Given the description of an element on the screen output the (x, y) to click on. 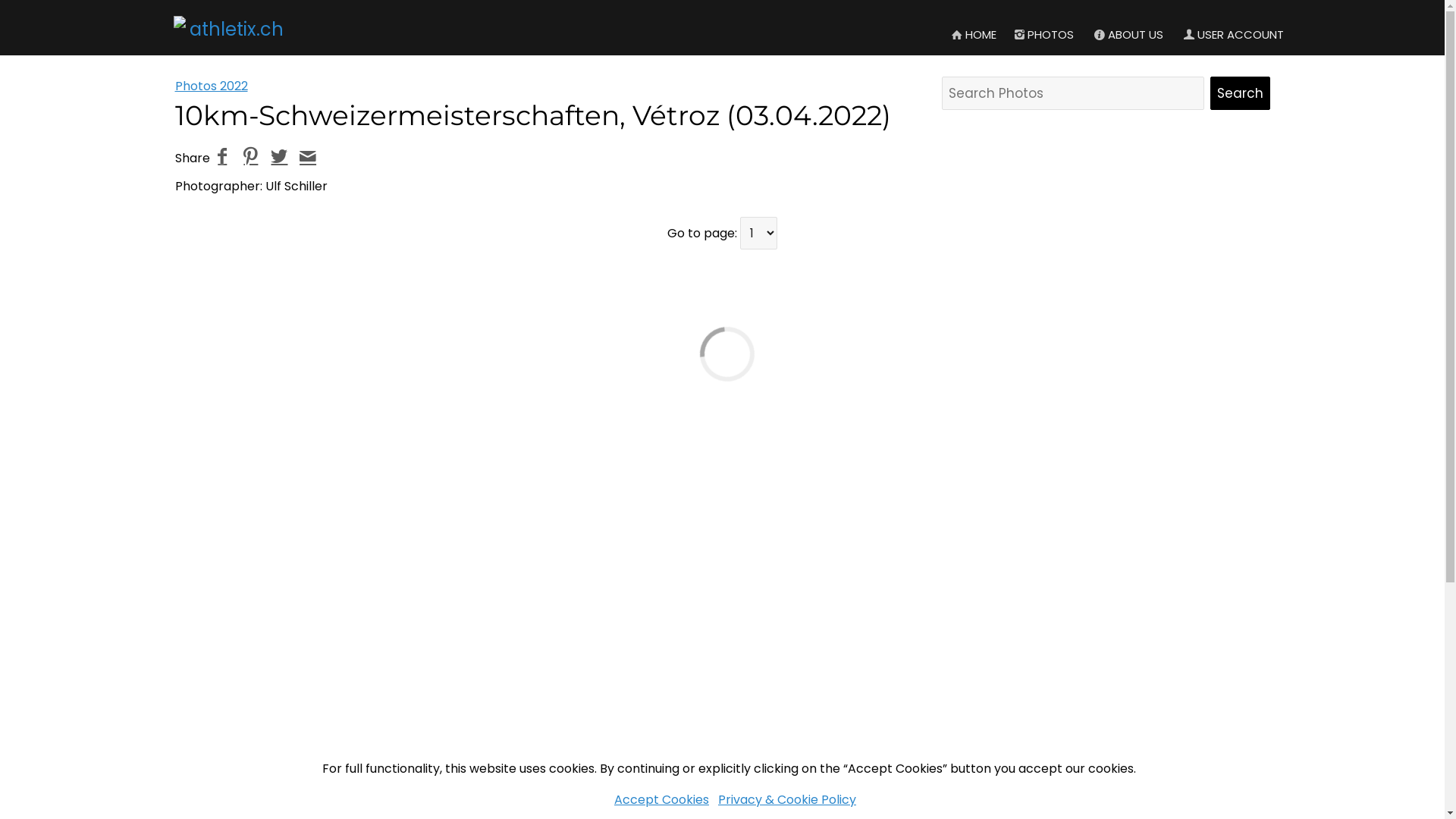
PHOTOS Element type: text (1042, 34)
ABOUT US Element type: text (1127, 34)
HOME Element type: text (972, 34)
USER ACCOUNT Element type: text (1232, 34)
Privacy & Cookie Policy Element type: text (787, 799)
Search Element type: text (1240, 92)
Accept Cookies Element type: text (661, 799)
Photos 2022 Element type: text (210, 85)
